Given the description of an element on the screen output the (x, y) to click on. 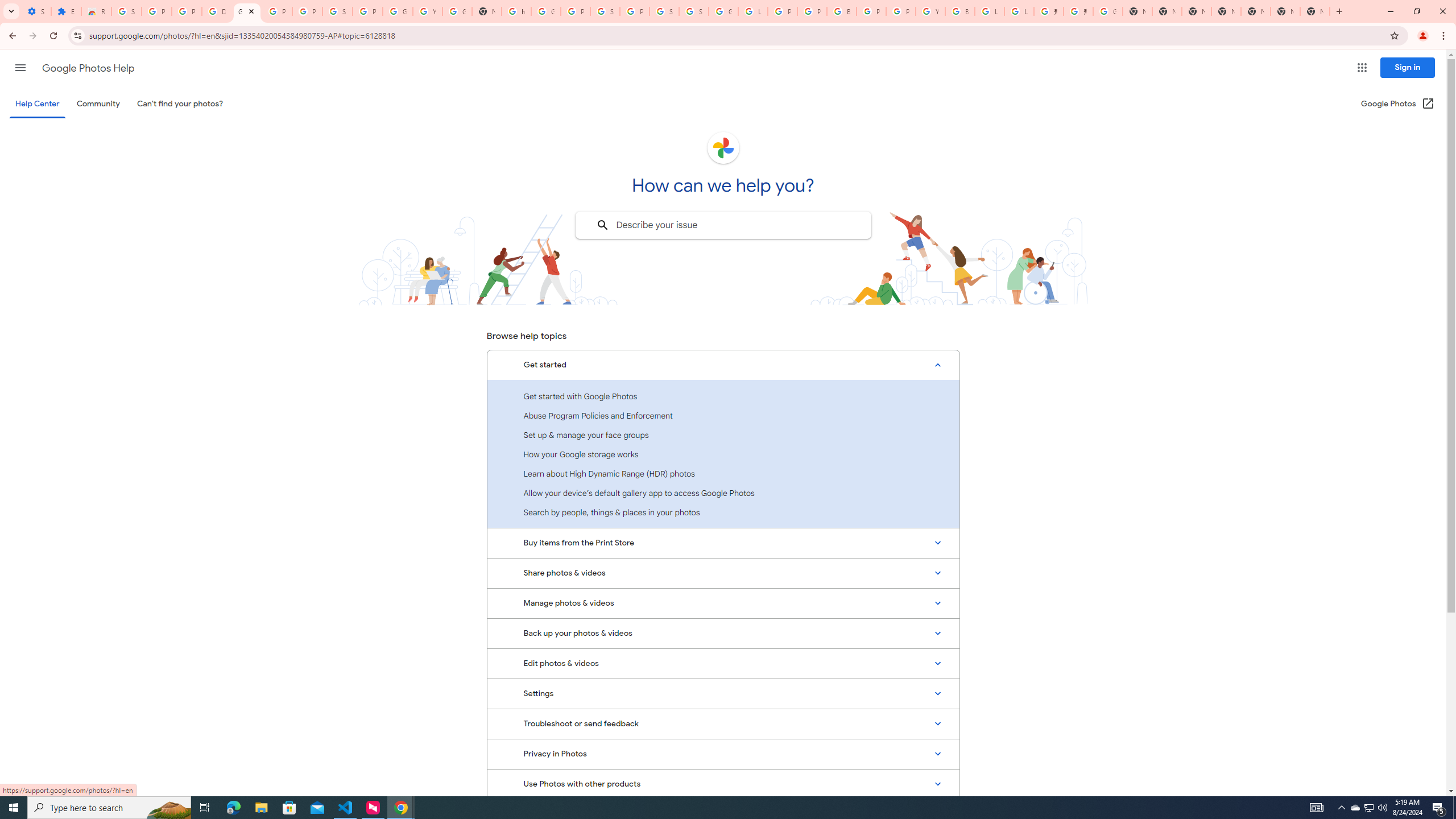
Back up your photos & videos (722, 633)
Abuse Program Policies and Enforcement (722, 415)
Use Photos with other products (722, 784)
Reviews: Helix Fruit Jump Arcade Game (95, 11)
Community (97, 103)
Learn about High Dynamic Range (HDR) photos (722, 473)
Set up & manage your face groups (722, 434)
How your Google storage works (722, 454)
